Given the description of an element on the screen output the (x, y) to click on. 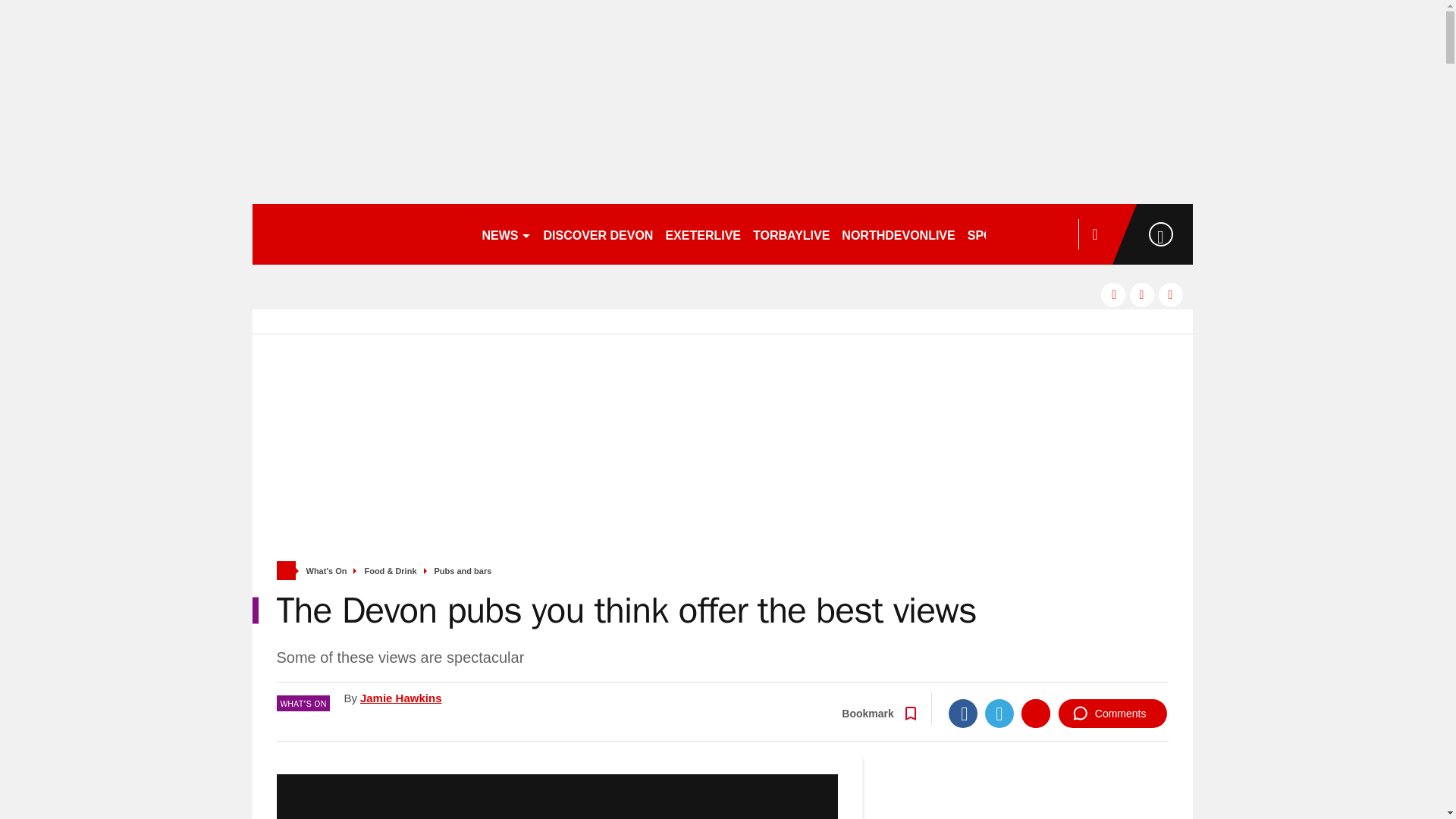
Facebook (962, 713)
twitter (1141, 294)
Twitter (999, 713)
facebook (1112, 294)
DISCOVER DEVON (598, 233)
EXETERLIVE (702, 233)
Comments (1112, 713)
TORBAYLIVE (790, 233)
devonlive (359, 233)
NEWS (506, 233)
